Given the description of an element on the screen output the (x, y) to click on. 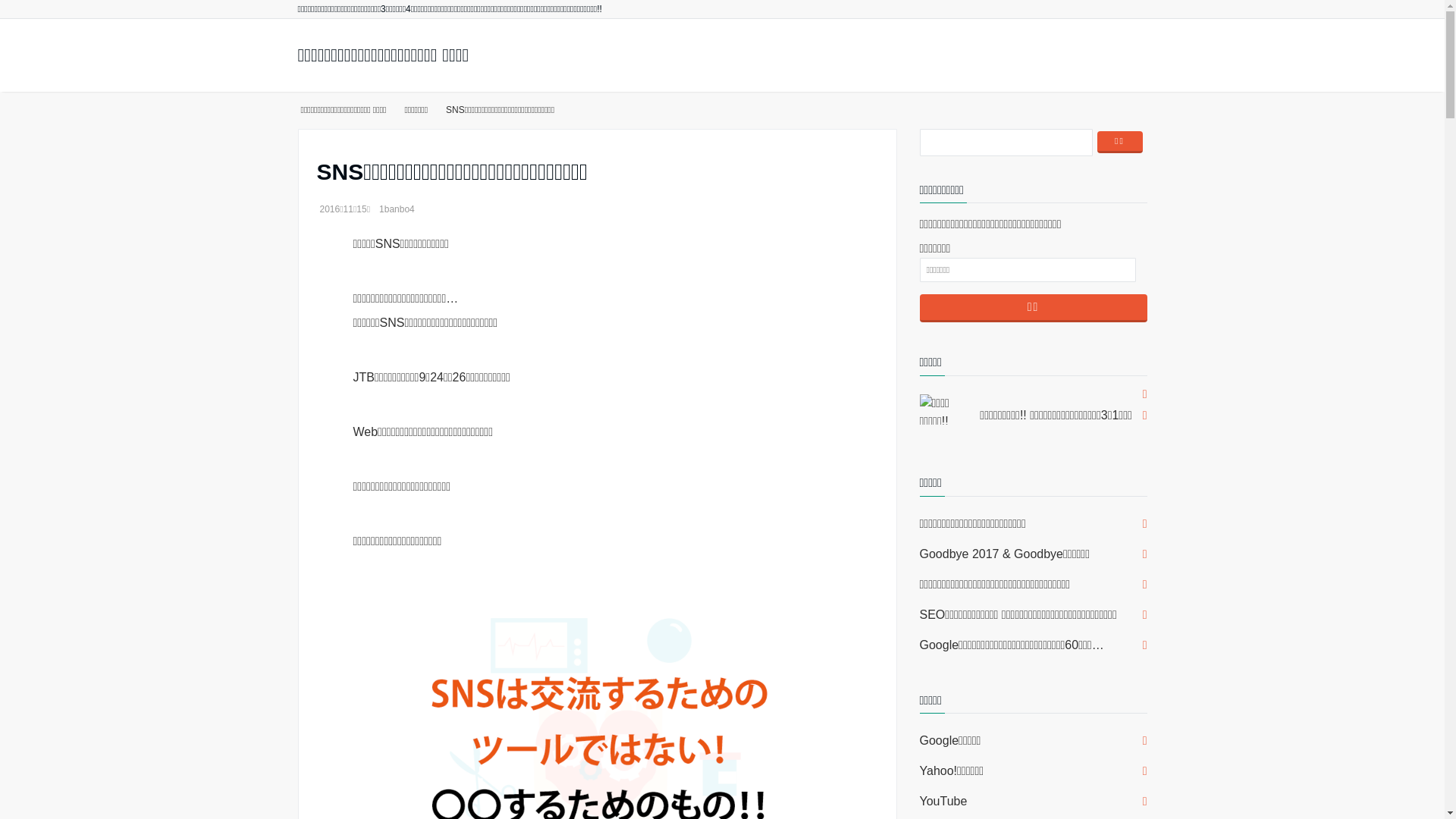
YouTube Element type: text (1032, 801)
1banbo4 Element type: text (396, 208)
